Given the description of an element on the screen output the (x, y) to click on. 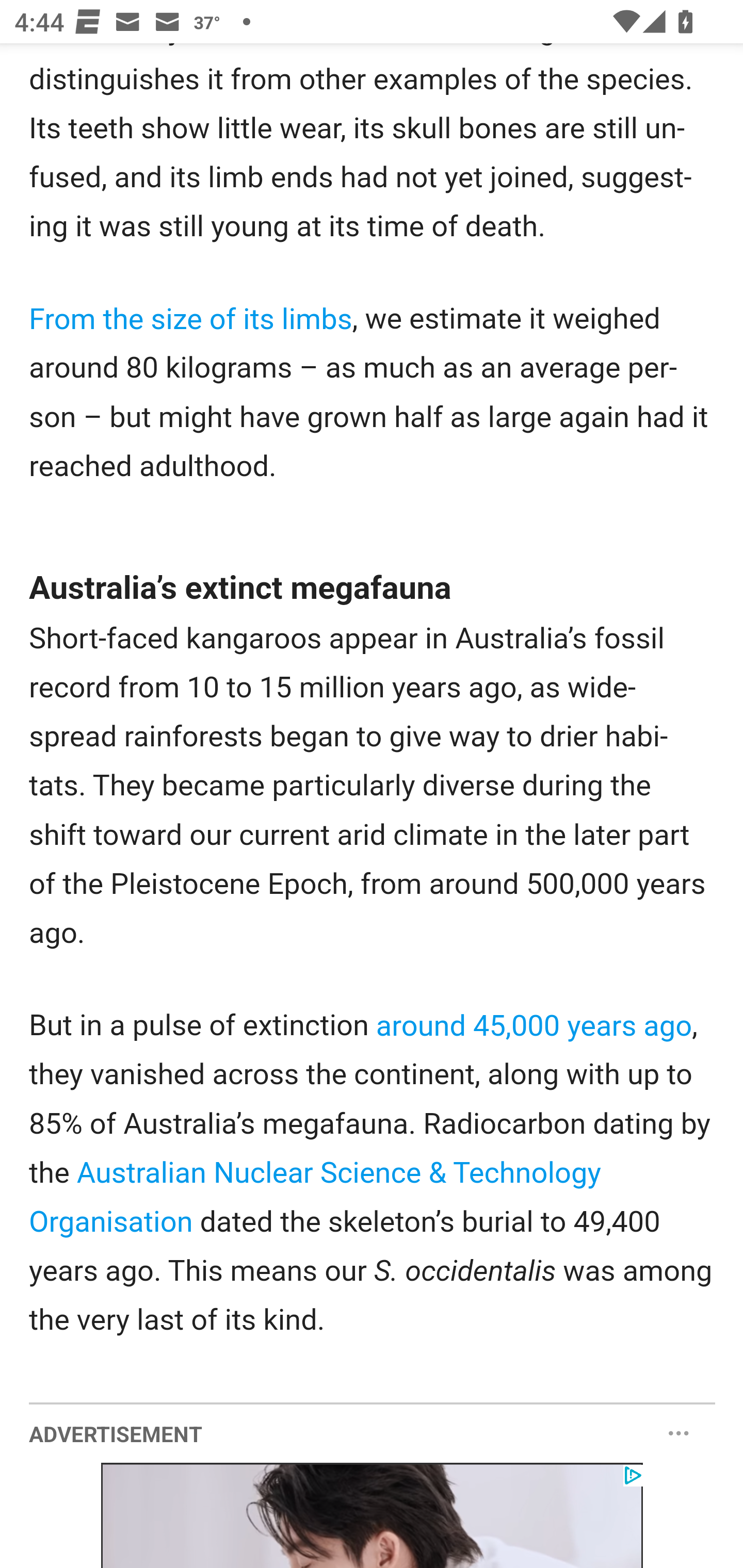
From the size of its limbs (190, 319)
around 45,000 years ago (534, 1026)
